Given the description of an element on the screen output the (x, y) to click on. 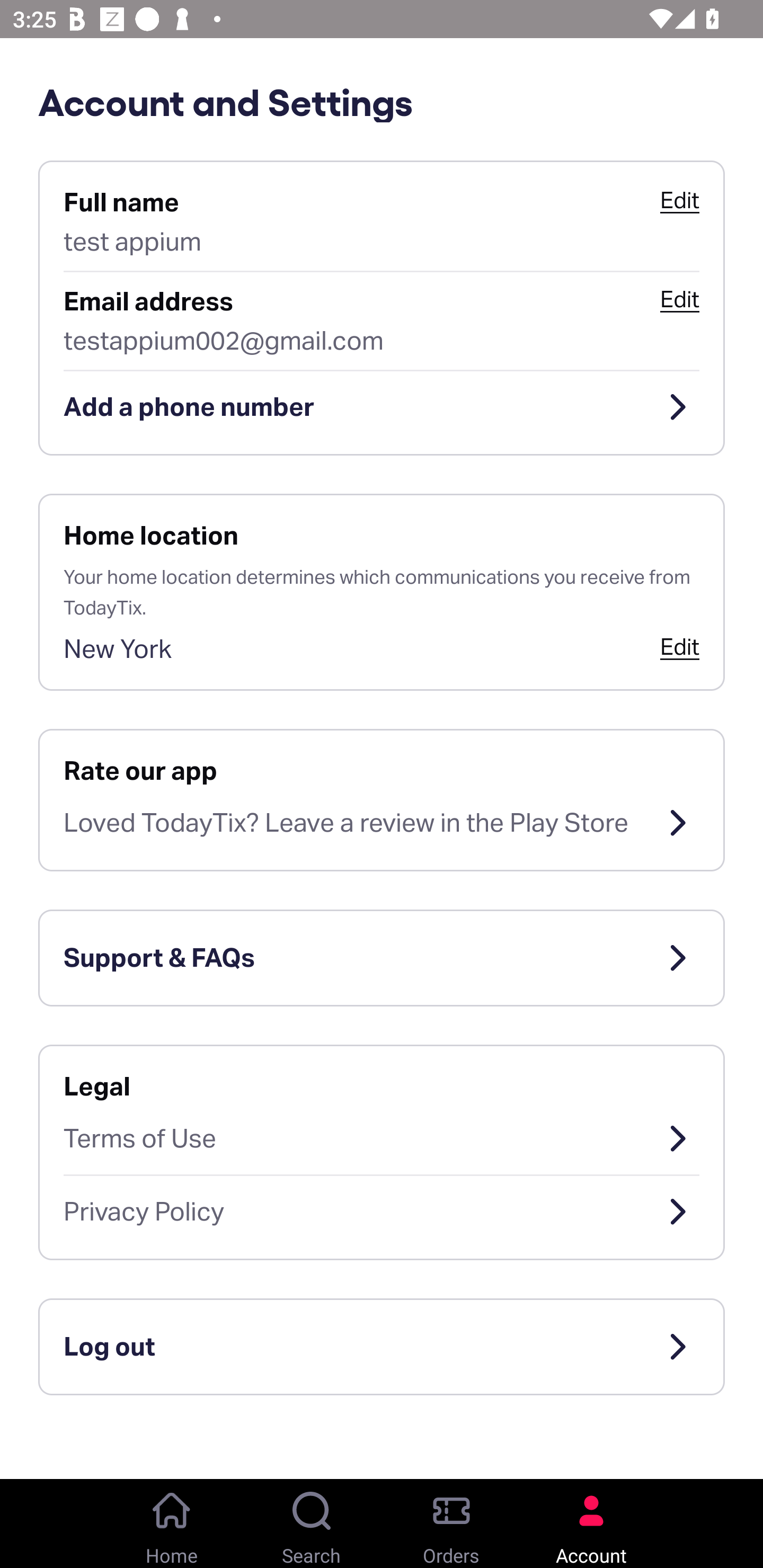
Edit (679, 200)
Edit (679, 299)
Add a phone number (381, 406)
Edit (679, 646)
Loved TodayTix? Leave a review in the Play Store (381, 822)
Support & FAQs (381, 957)
Terms of Use (381, 1137)
Privacy Policy (381, 1211)
Log out (381, 1346)
Home (171, 1523)
Search (311, 1523)
Orders (451, 1523)
